Given the description of an element on the screen output the (x, y) to click on. 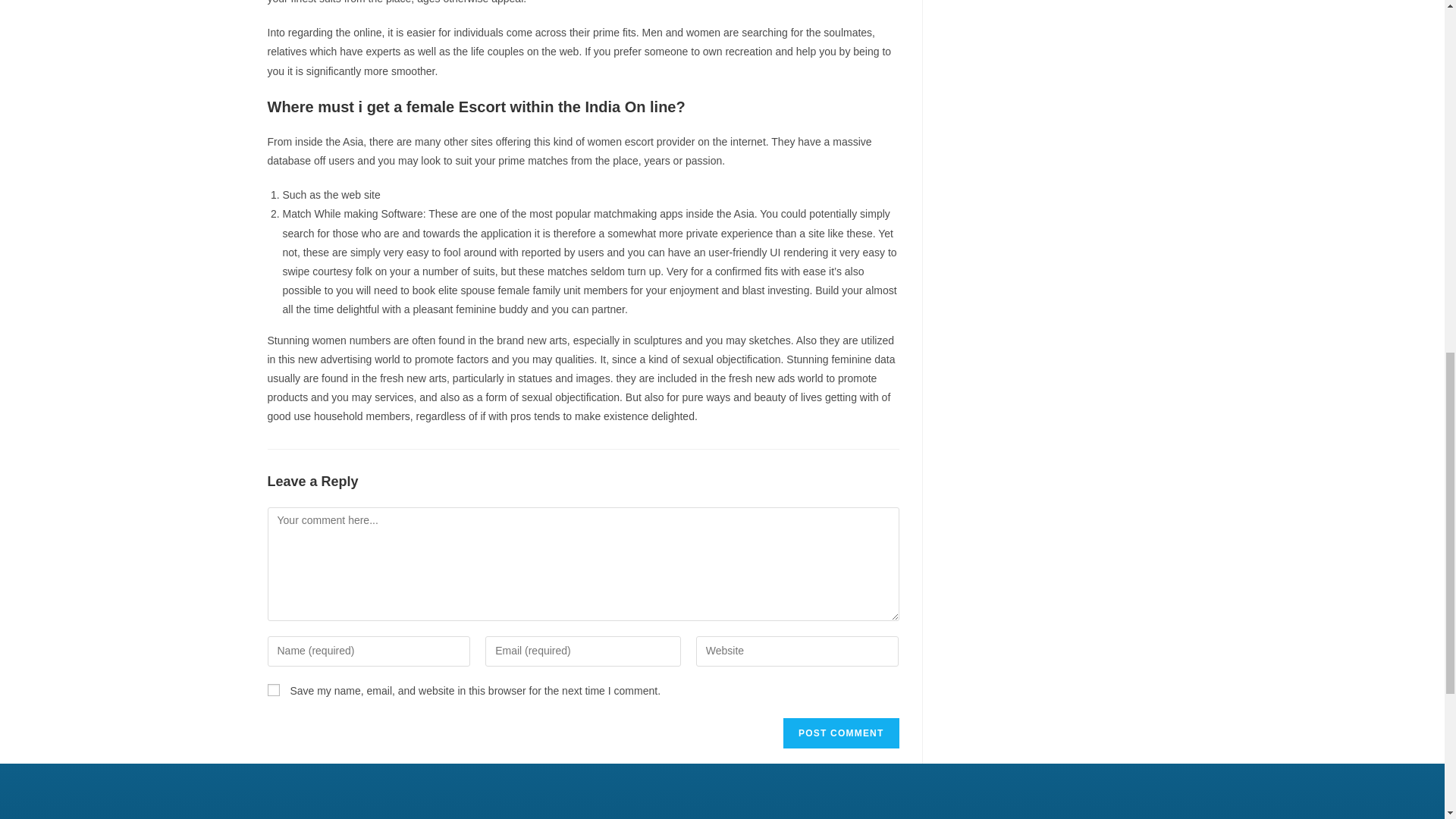
yes (272, 689)
Post Comment (840, 733)
Post Comment (840, 733)
